Given the description of an element on the screen output the (x, y) to click on. 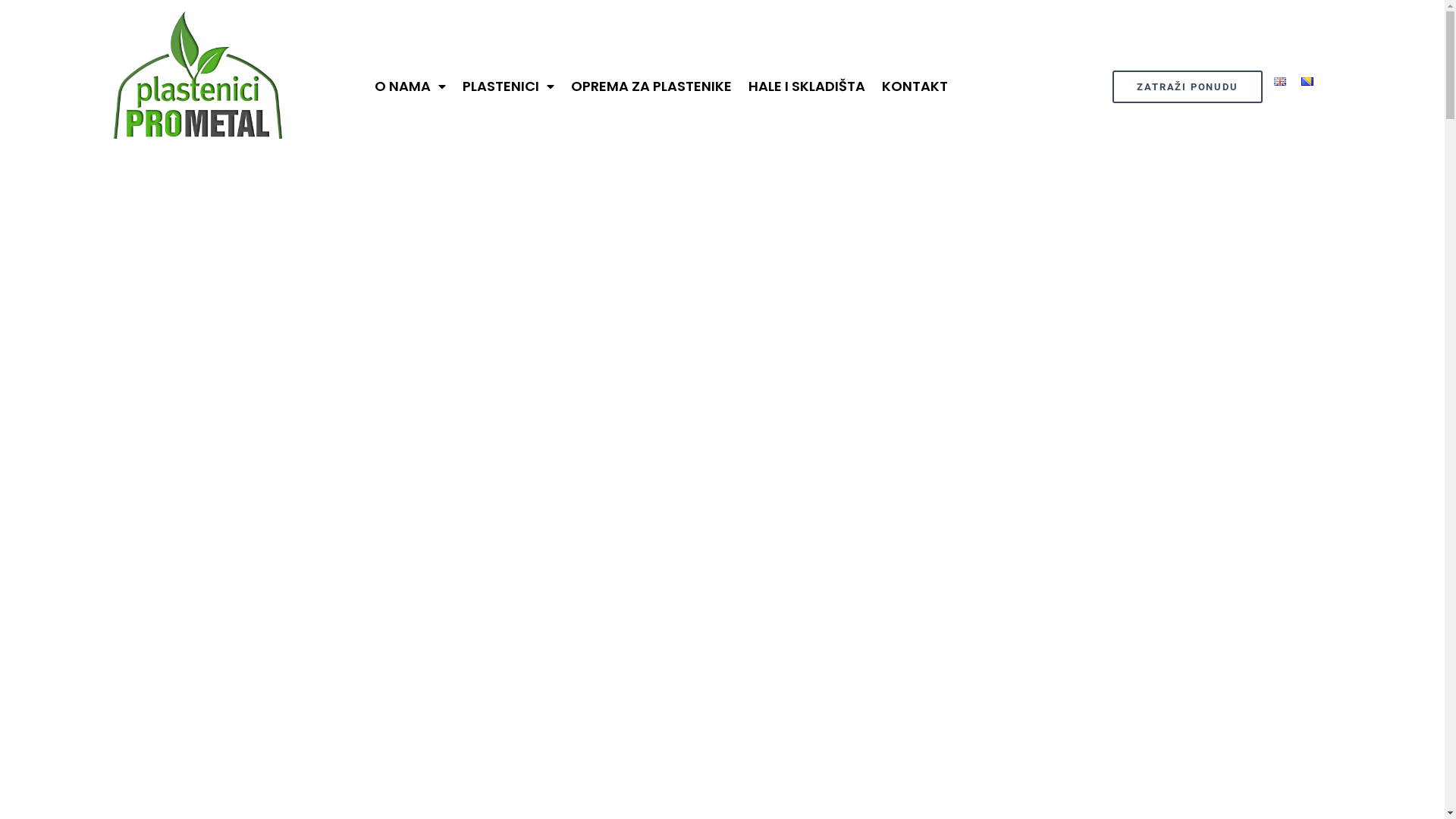
KONTAKT Element type: text (914, 86)
OPREMA ZA PLASTENIKE Element type: text (651, 86)
O NAMA Element type: text (410, 86)
PLASTENICI Element type: text (508, 86)
